Given the description of an element on the screen output the (x, y) to click on. 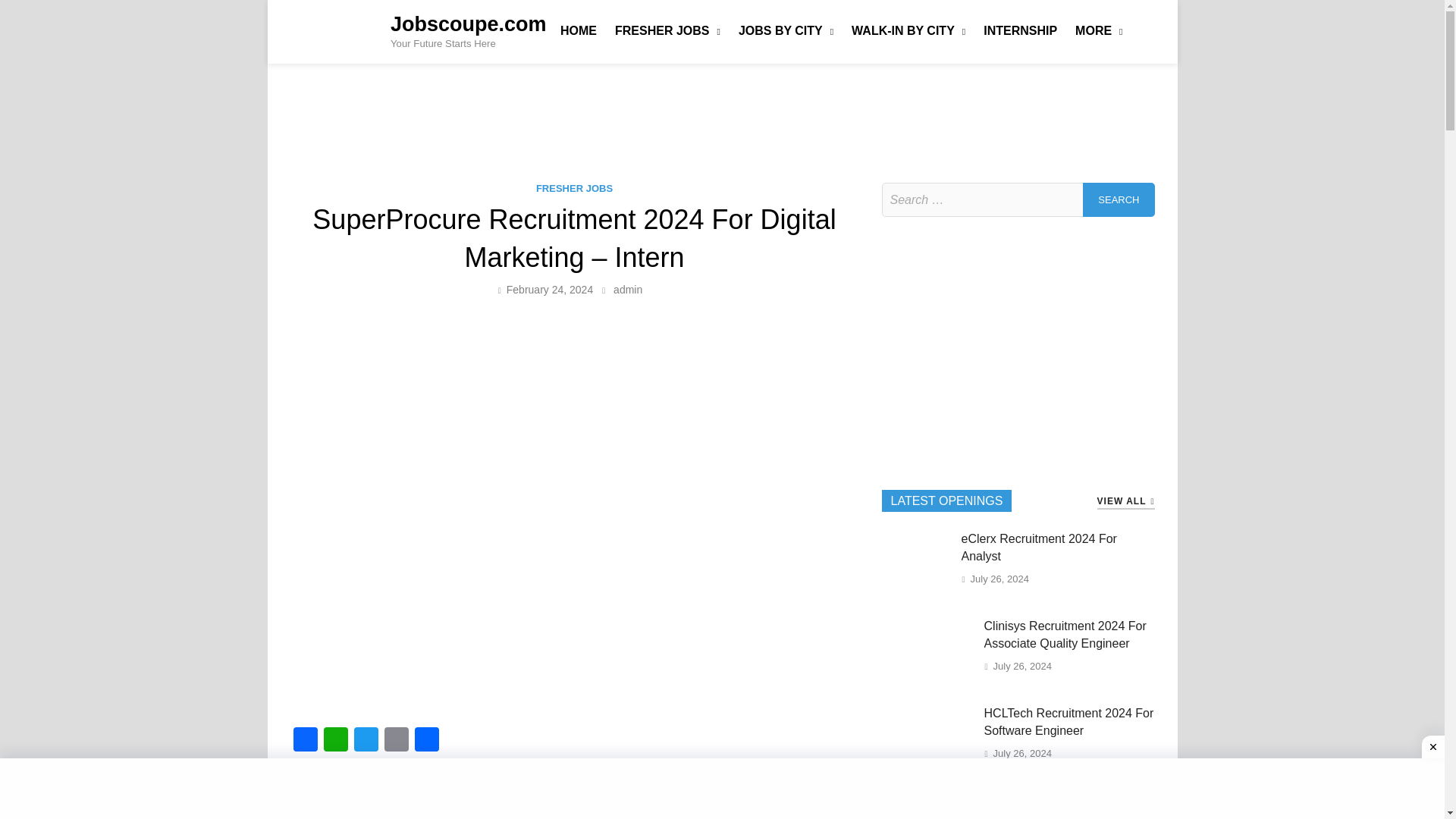
Twitter (365, 741)
Facebook (304, 741)
Search (1118, 199)
February 24, 2024 (549, 289)
Email (395, 741)
admin (627, 289)
WhatsApp (335, 741)
Clinisys Recruitment 2024 For Associate Quality Engineer (927, 628)
Twitter (365, 741)
Wipro Recruitment 2024 For WILP (916, 802)
Email (395, 741)
MORE (1098, 30)
Share (425, 741)
eClerx Recruitment 2024 For Analyst (916, 541)
FRESHER JOBS (667, 30)
